Given the description of an element on the screen output the (x, y) to click on. 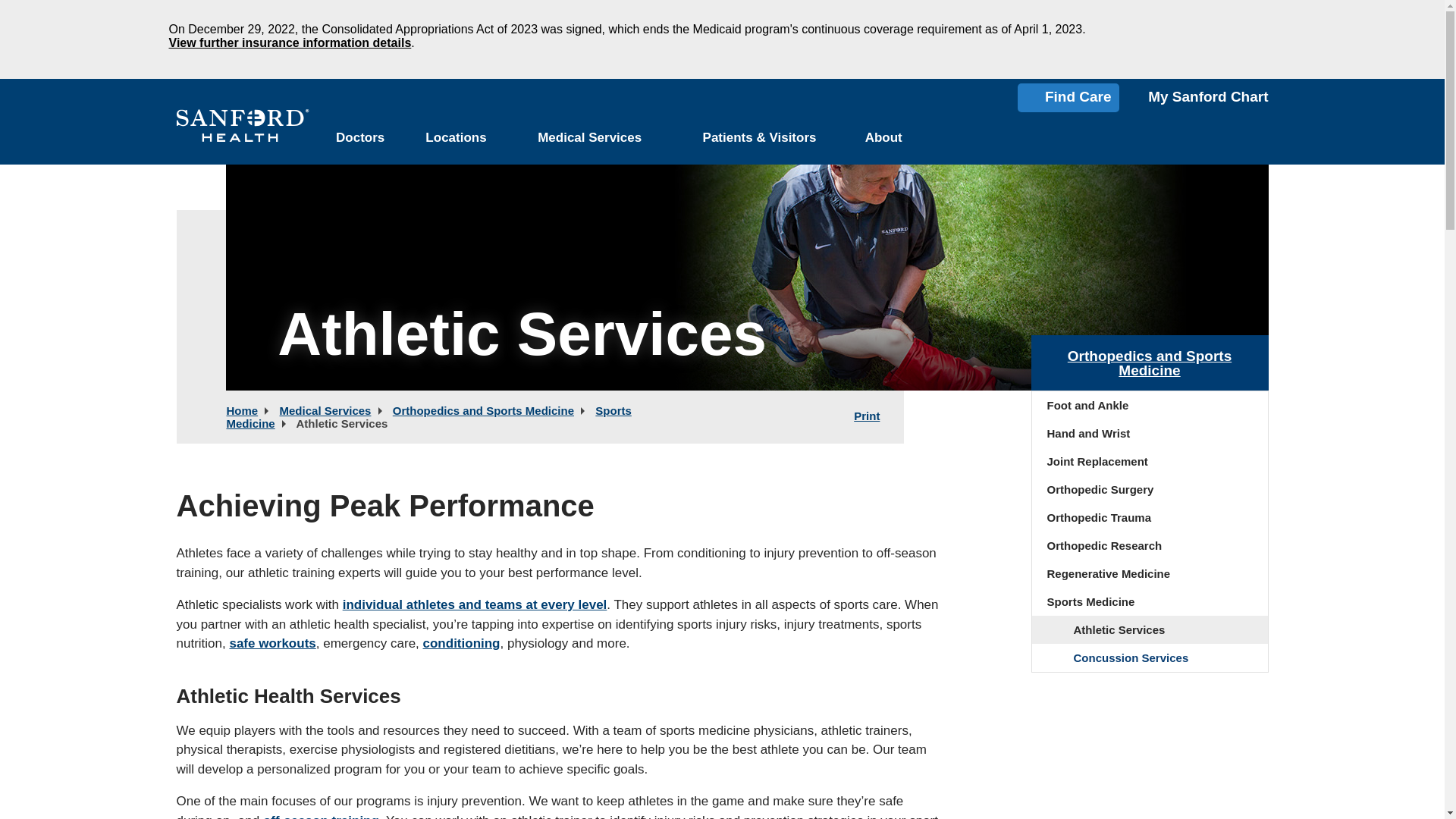
safe workouts (271, 643)
Sports Medicine (427, 416)
Doctors (360, 137)
off-season training (320, 816)
Orthopedics and Sports Medicine (483, 410)
individual athletes and teams at every level (474, 604)
About (883, 137)
Medical Services (589, 137)
Print (872, 415)
conditioning (461, 643)
